Given the description of an element on the screen output the (x, y) to click on. 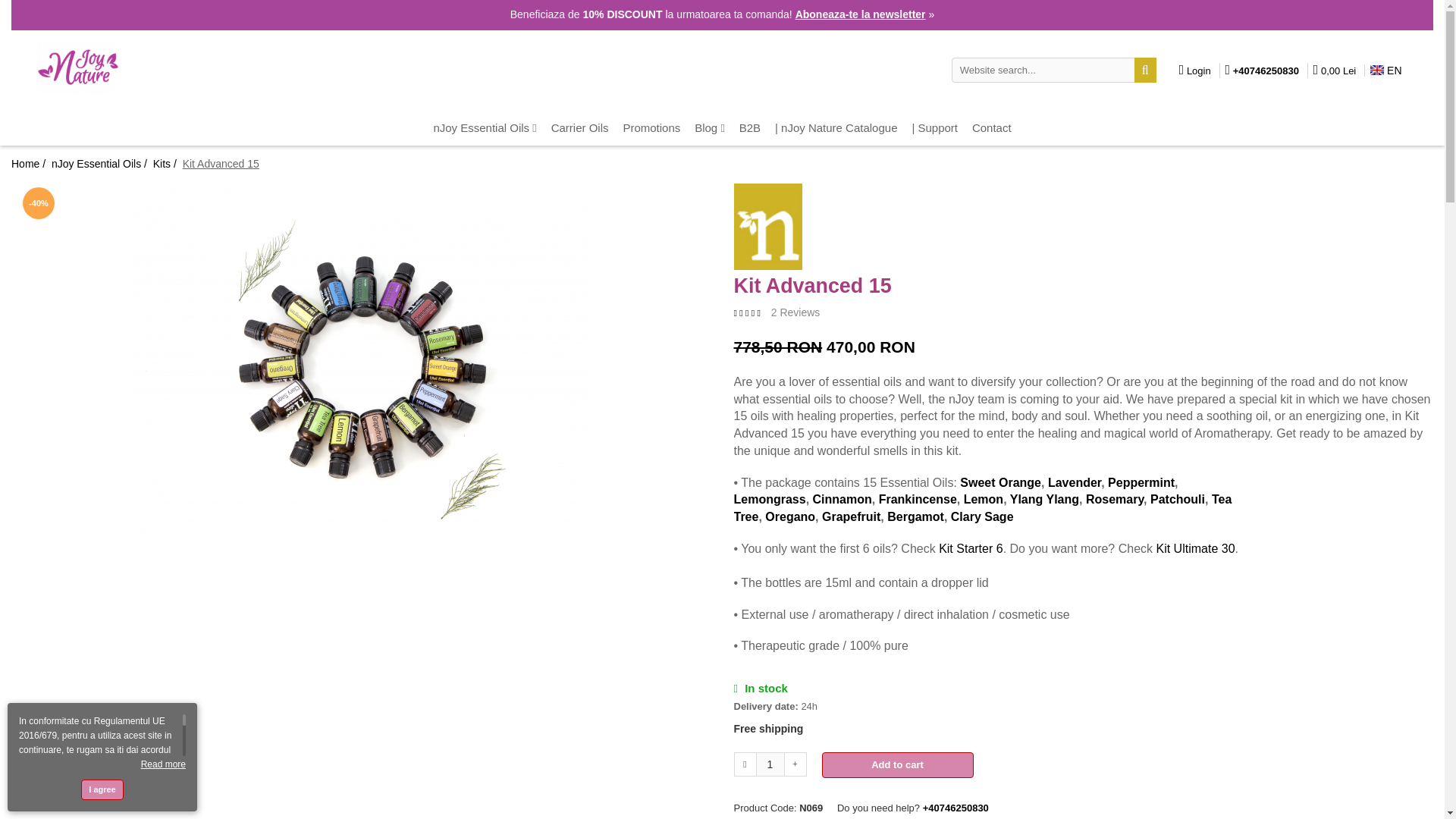
1 (770, 764)
